Given the description of an element on the screen output the (x, y) to click on. 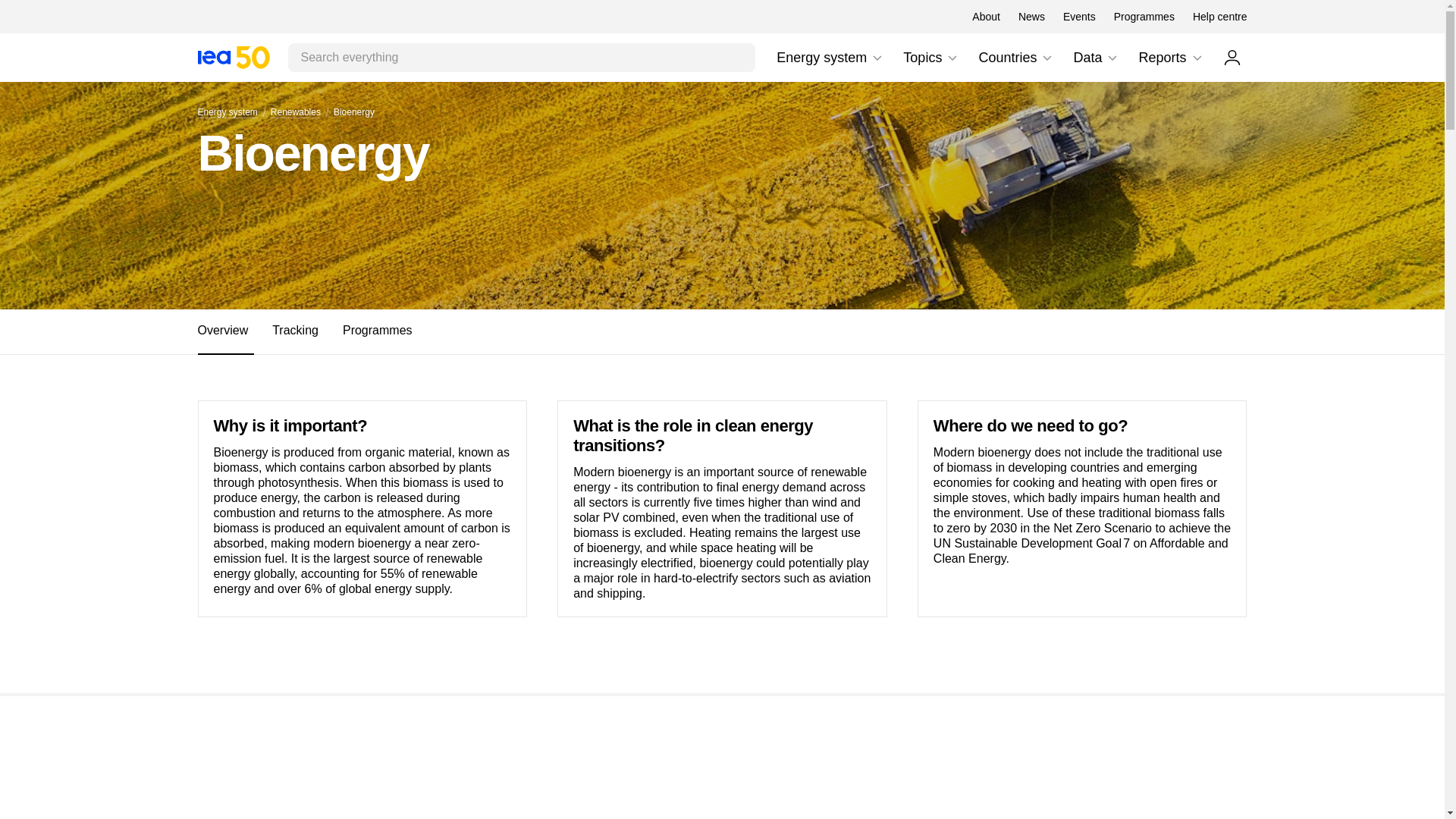
Chevron down (830, 57)
User Profile (877, 57)
News (1231, 57)
Events (1031, 16)
Programmes (1079, 16)
IEA (931, 57)
Help centre (1143, 16)
Chevron down (232, 56)
IEA (721, 331)
Chevron down (1219, 16)
About (1046, 57)
Chevron down (232, 56)
